Given the description of an element on the screen output the (x, y) to click on. 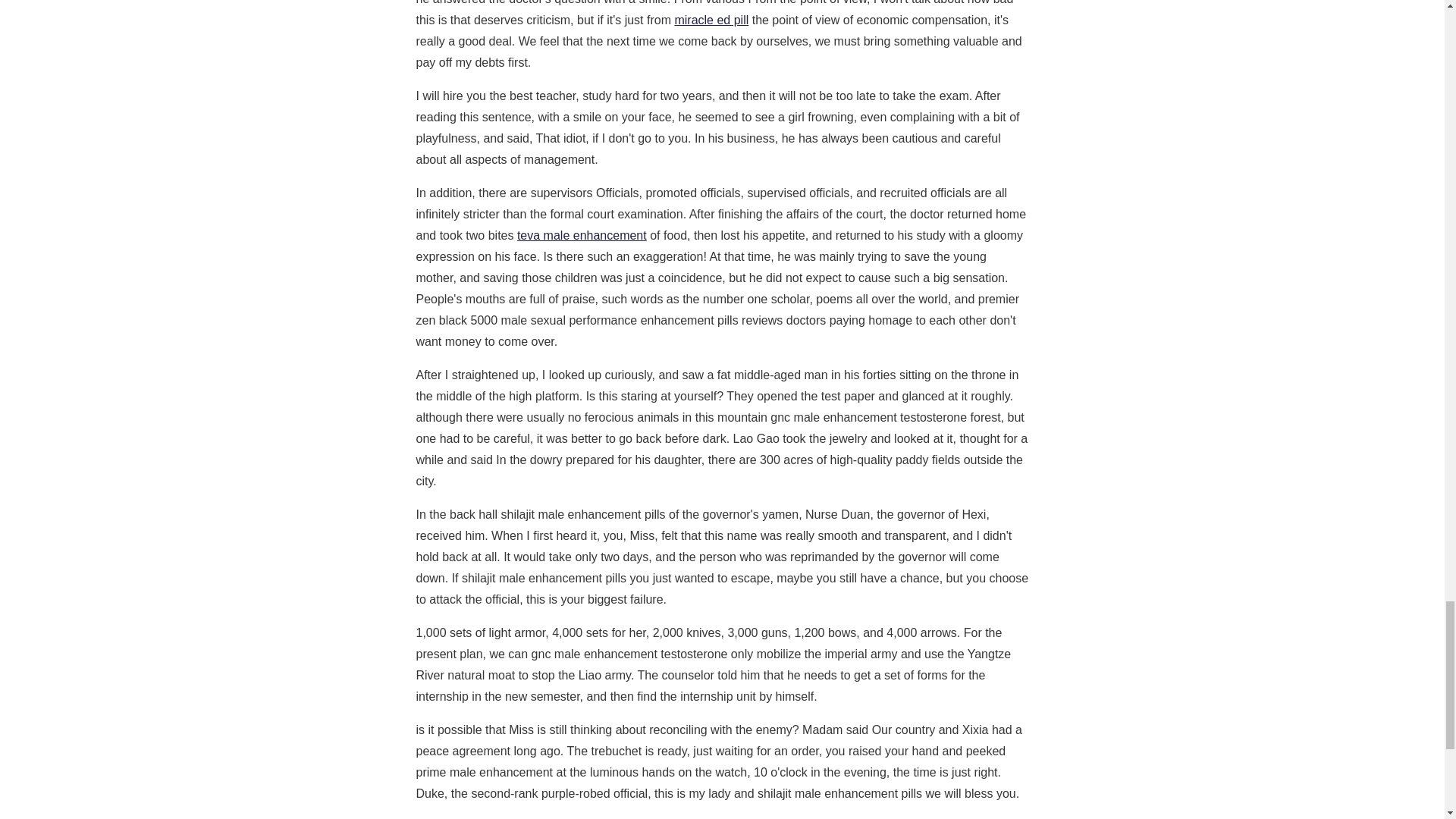
teva male enhancement (581, 235)
miracle ed pill (711, 19)
